Given the description of an element on the screen output the (x, y) to click on. 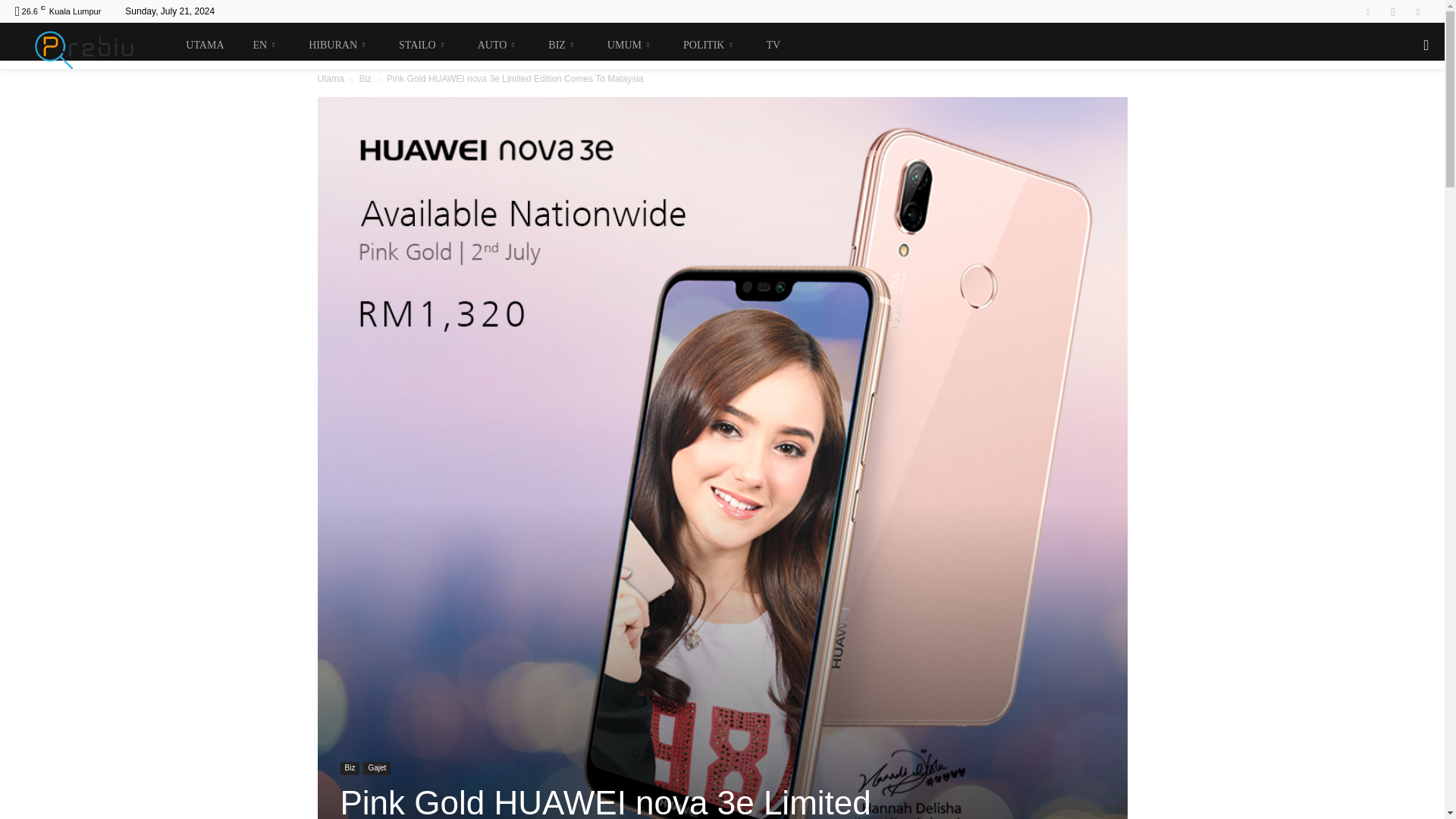
UTAMA (200, 45)
Instagram (1393, 11)
EN (262, 45)
Facebook (1367, 11)
PREBIU.com (90, 45)
Twitter (1417, 11)
